Given the description of an element on the screen output the (x, y) to click on. 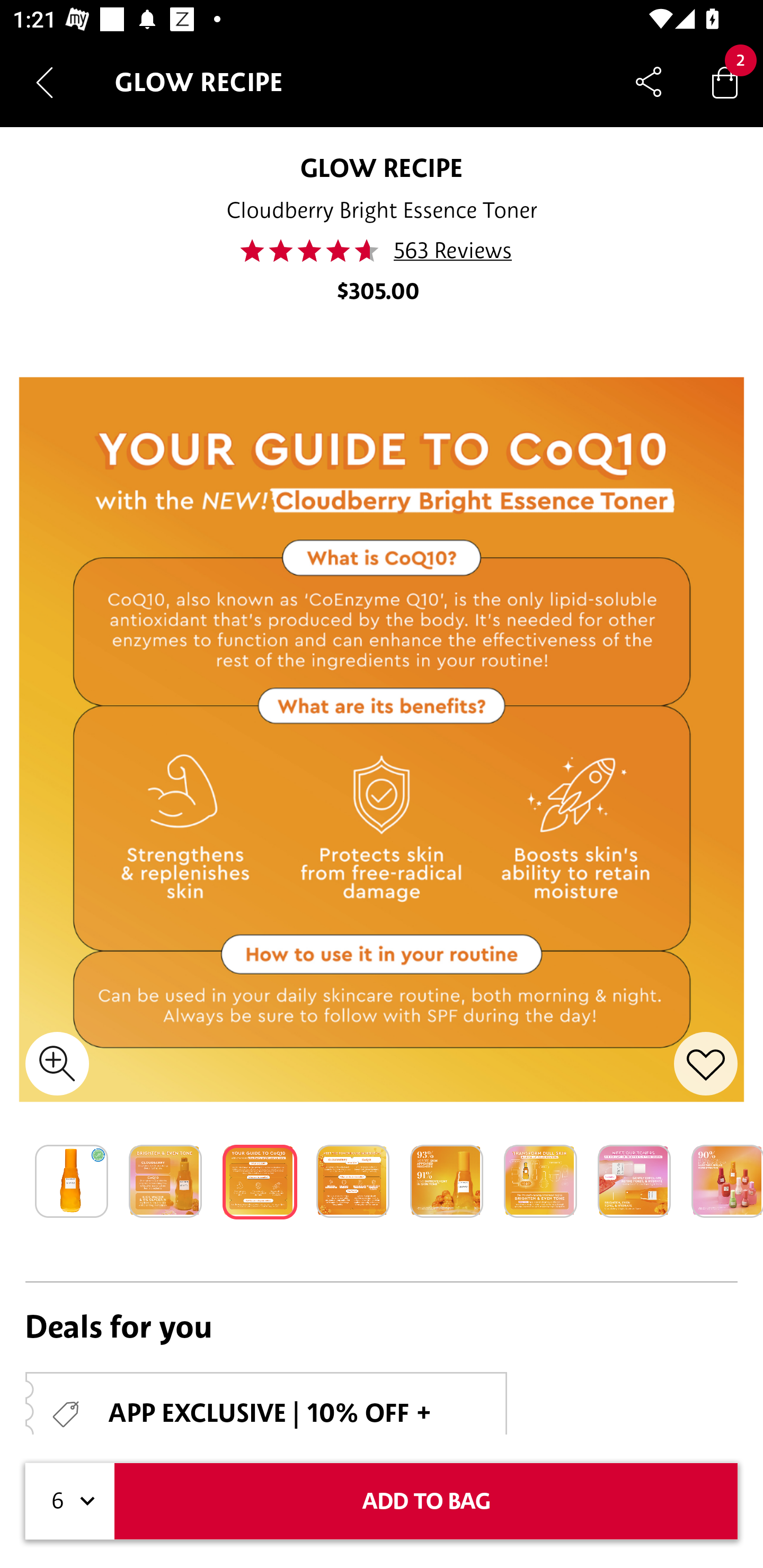
Navigate up (44, 82)
Share (648, 81)
Bag (724, 81)
GLOW RECIPE (381, 167)
46.0 563 Reviews (381, 250)
6 (69, 1500)
ADD TO BAG (425, 1500)
